Given the description of an element on the screen output the (x, y) to click on. 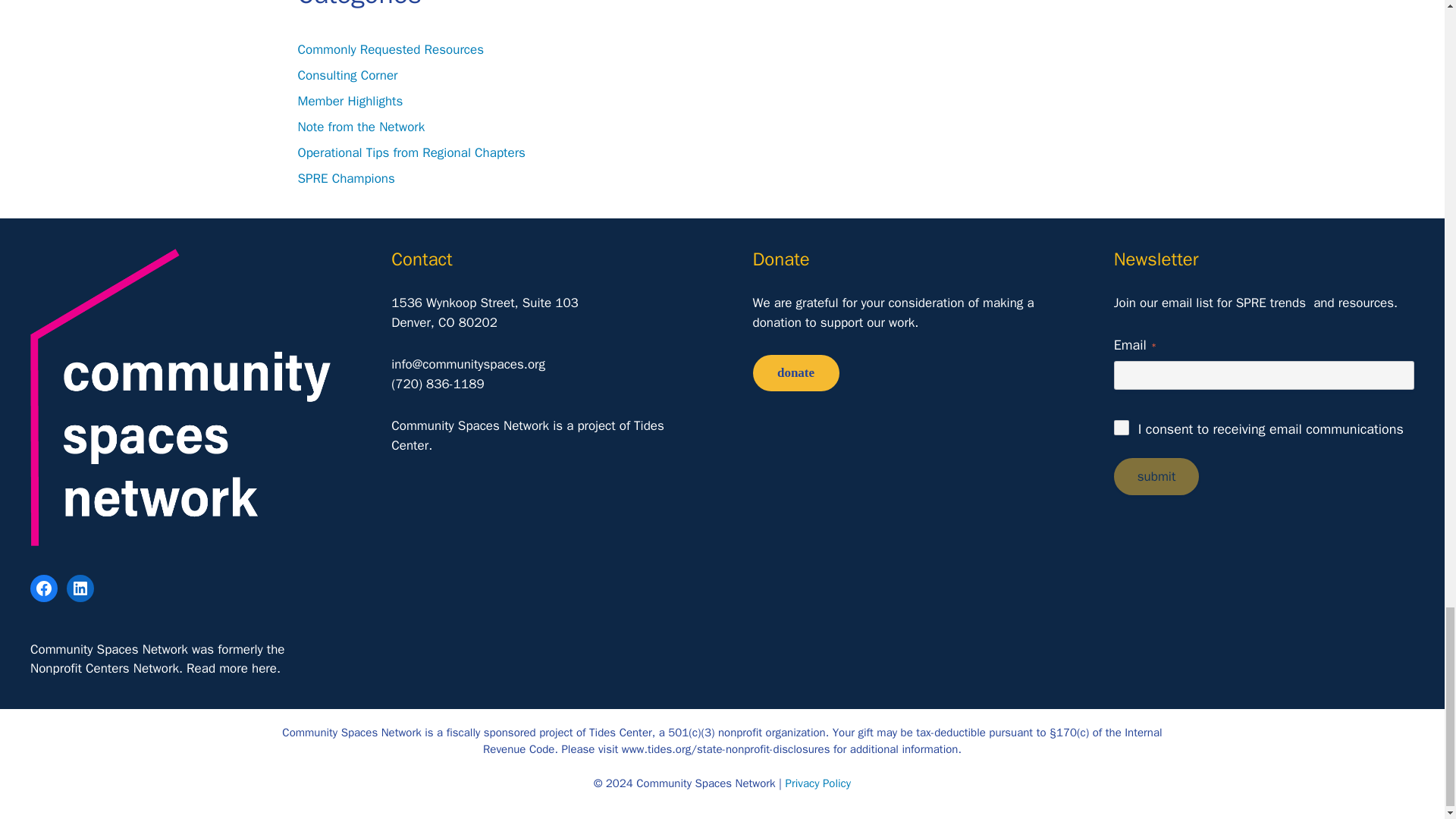
submit (1156, 476)
1 (1121, 427)
